Given the description of an element on the screen output the (x, y) to click on. 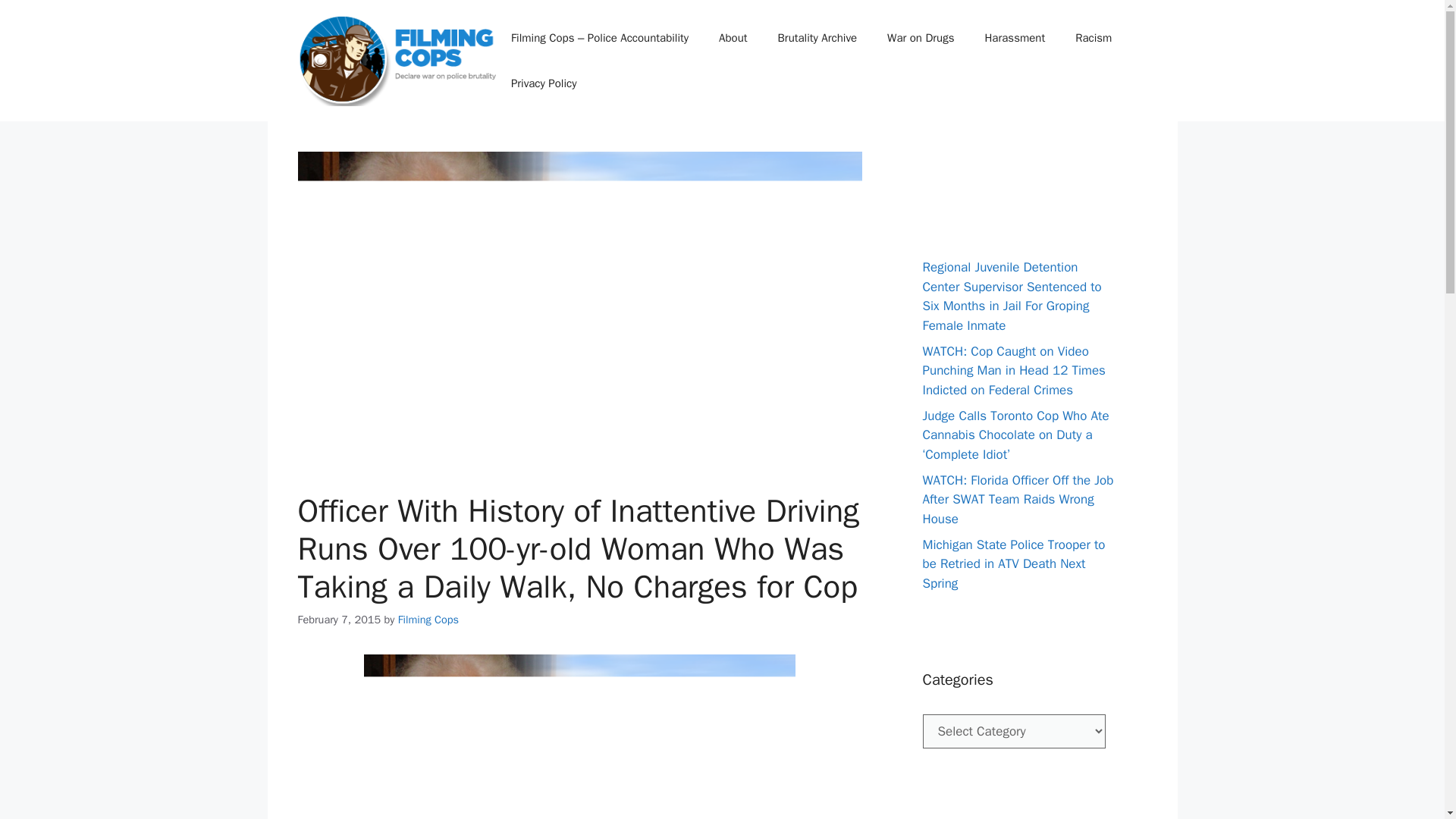
War on Drugs (920, 37)
Harassment (1014, 37)
Filming Cops (427, 619)
Brutality Archive (817, 37)
View all posts by Filming Cops (427, 619)
About (732, 37)
Privacy Policy (544, 83)
